Given the description of an element on the screen output the (x, y) to click on. 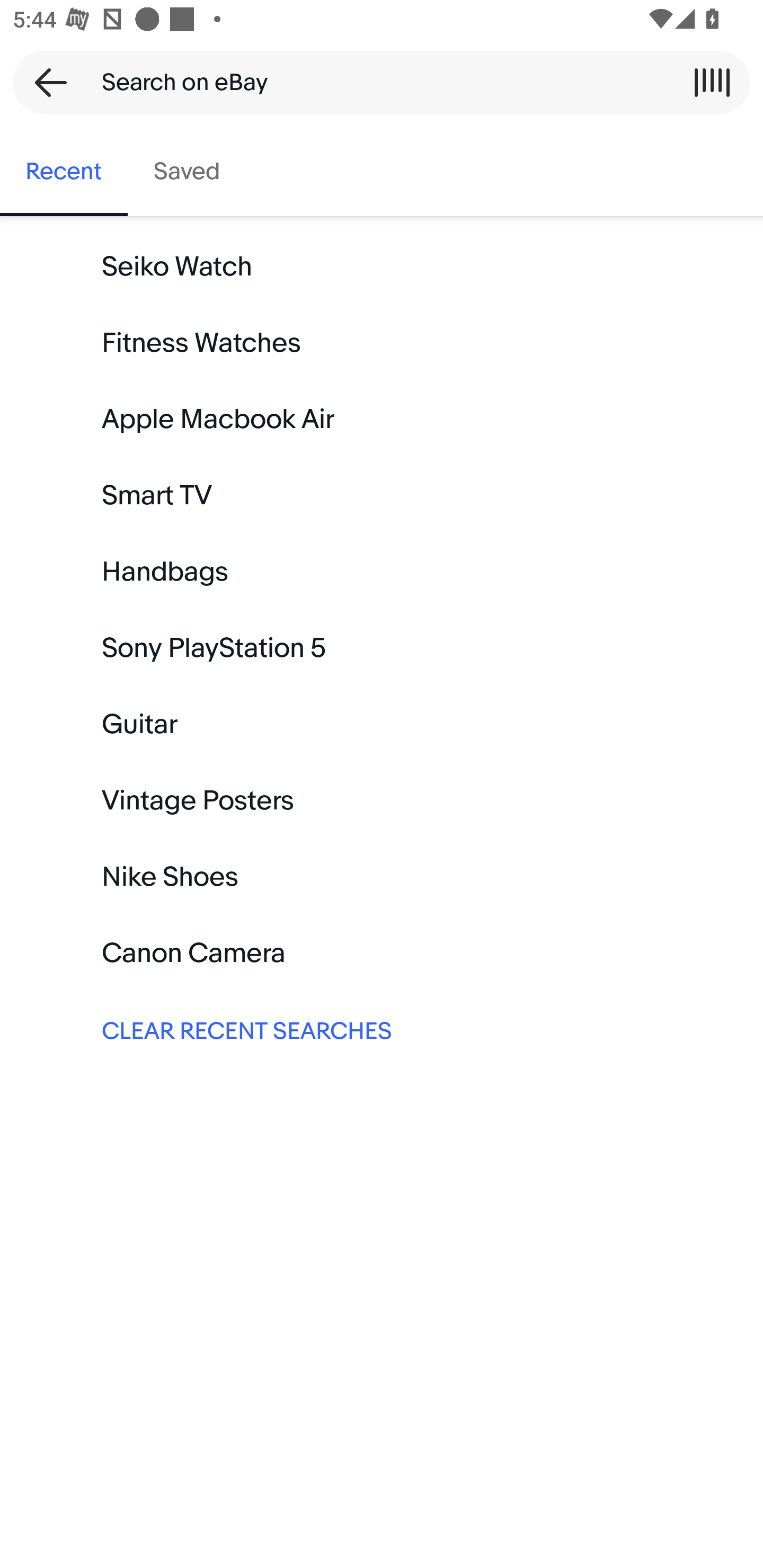
Back (44, 82)
Scan a barcode (711, 82)
Search on eBay (375, 82)
Saved, tab 2 of 2 Saved (186, 171)
Seiko Watch Keyword search Seiko Watch: (381, 266)
Fitness Watches Keyword search Fitness Watches: (381, 343)
Smart TV Keyword search Smart TV: (381, 495)
Handbags Keyword search Handbags: (381, 571)
Guitar Keyword search Guitar: (381, 724)
Vintage Posters Keyword search Vintage Posters: (381, 800)
Nike Shoes Keyword search Nike Shoes: (381, 876)
Canon Camera Keyword search Canon Camera: (381, 952)
CLEAR RECENT SEARCHES (381, 1028)
